Given the description of an element on the screen output the (x, y) to click on. 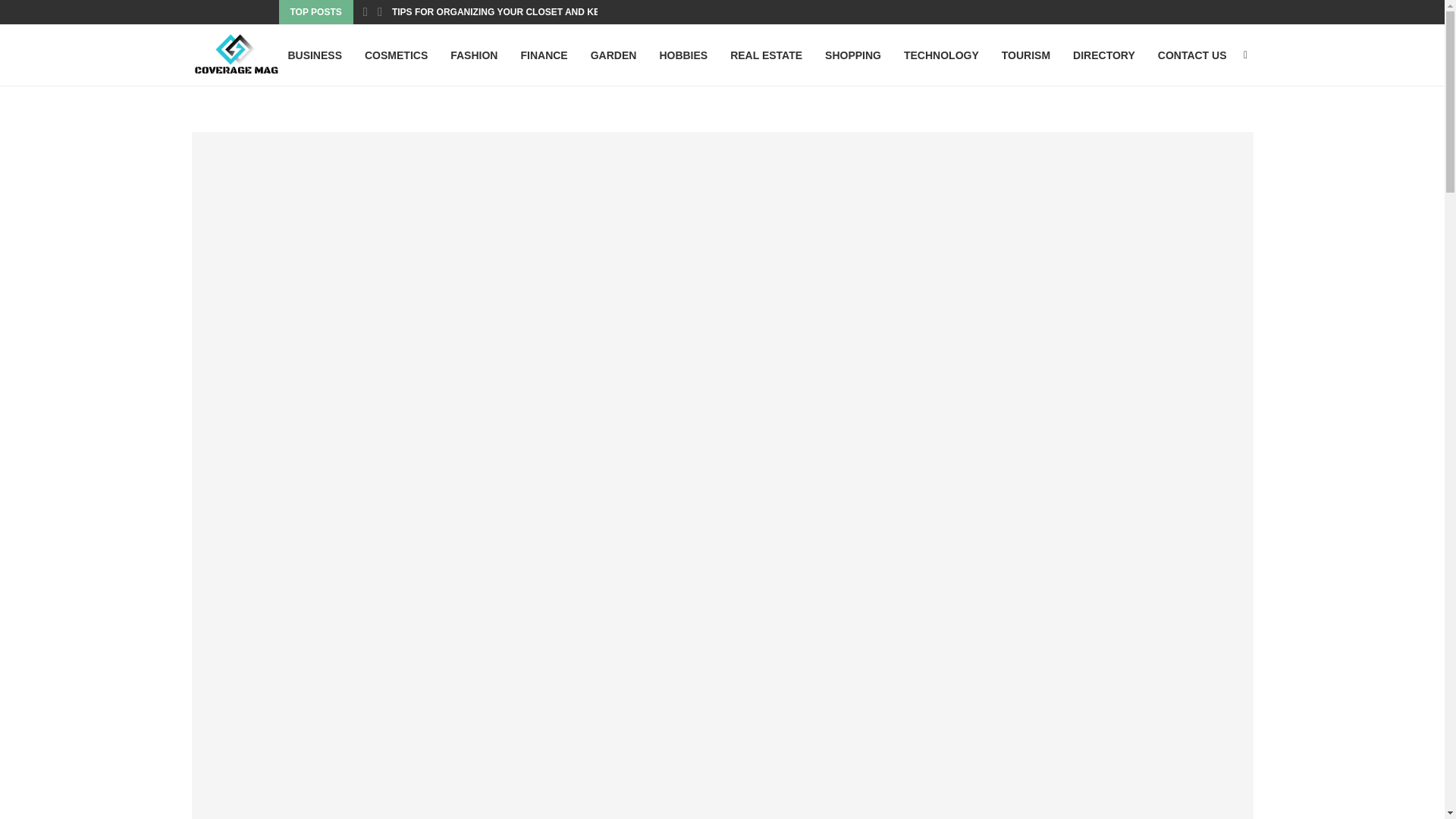
TECHNOLOGY (941, 55)
TIPS FOR ORGANIZING YOUR CLOSET AND KEEPING IT... (518, 12)
HOBBIES (683, 55)
SHOPPING (852, 55)
CONTACT US (1192, 55)
COSMETICS (396, 55)
TOURISM (1025, 55)
BUSINESS (314, 55)
DIRECTORY (1104, 55)
REAL ESTATE (766, 55)
FINANCE (543, 55)
FASHION (473, 55)
GARDEN (614, 55)
